Given the description of an element on the screen output the (x, y) to click on. 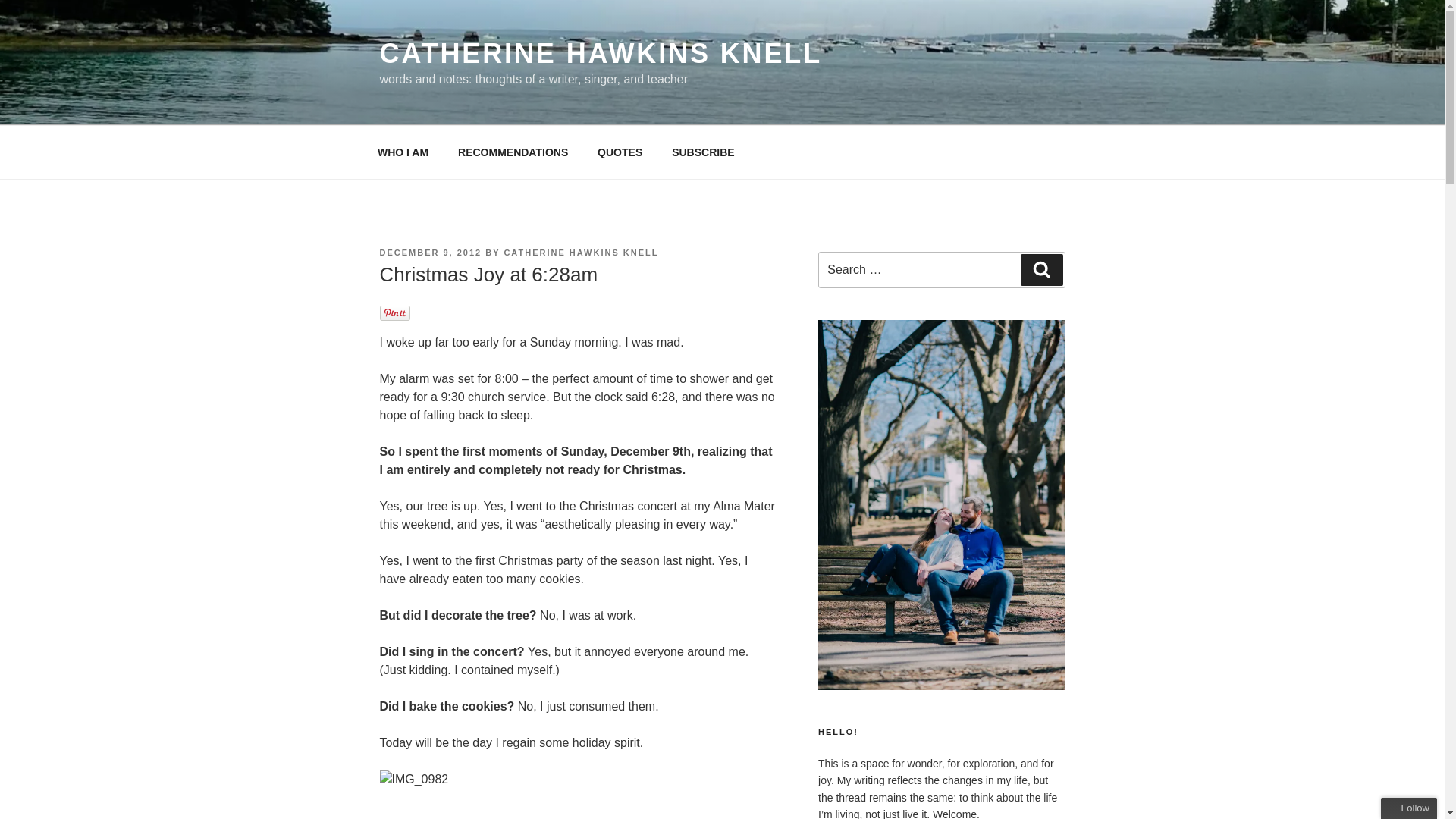
CATHERINE HAWKINS KNELL (600, 52)
DECEMBER 9, 2012 (429, 252)
QUOTES (620, 151)
Pin It (393, 313)
RECOMMENDATIONS (512, 151)
SUBSCRIBE (703, 151)
WHO I AM (402, 151)
CATHERINE HAWKINS KNELL (580, 252)
